Given the description of an element on the screen output the (x, y) to click on. 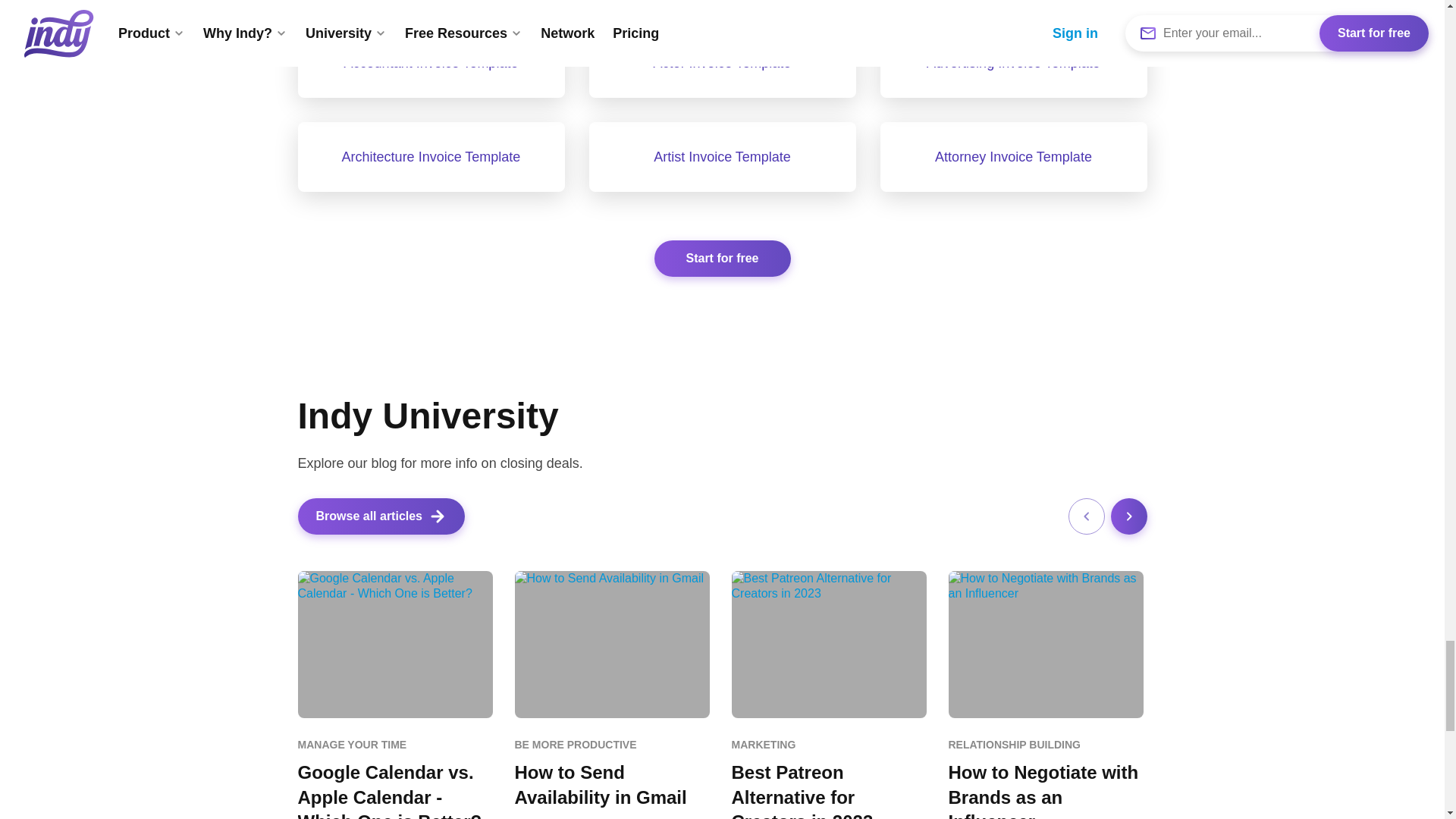
Architecture Invoice Template (430, 156)
Browse all articles (380, 515)
Accountant Invoice Template (430, 62)
Best Patreon Alternative for Creators in 2023 (828, 789)
Start for free (721, 258)
How to Negotiate with Brands as an Influencer (1044, 789)
MARKETING (828, 745)
BE MORE PRODUCTIVE (611, 745)
Artist Invoice Template (722, 156)
Google Calendar vs. Apple Calendar - Which One is Better? (394, 789)
Attorney Invoice Template (1013, 156)
How to Send Availability in Gmail (611, 784)
MANAGE YOUR TIME (394, 745)
Actor Invoice Template (722, 62)
Advertising Invoice Template (1013, 62)
